Given the description of an element on the screen output the (x, y) to click on. 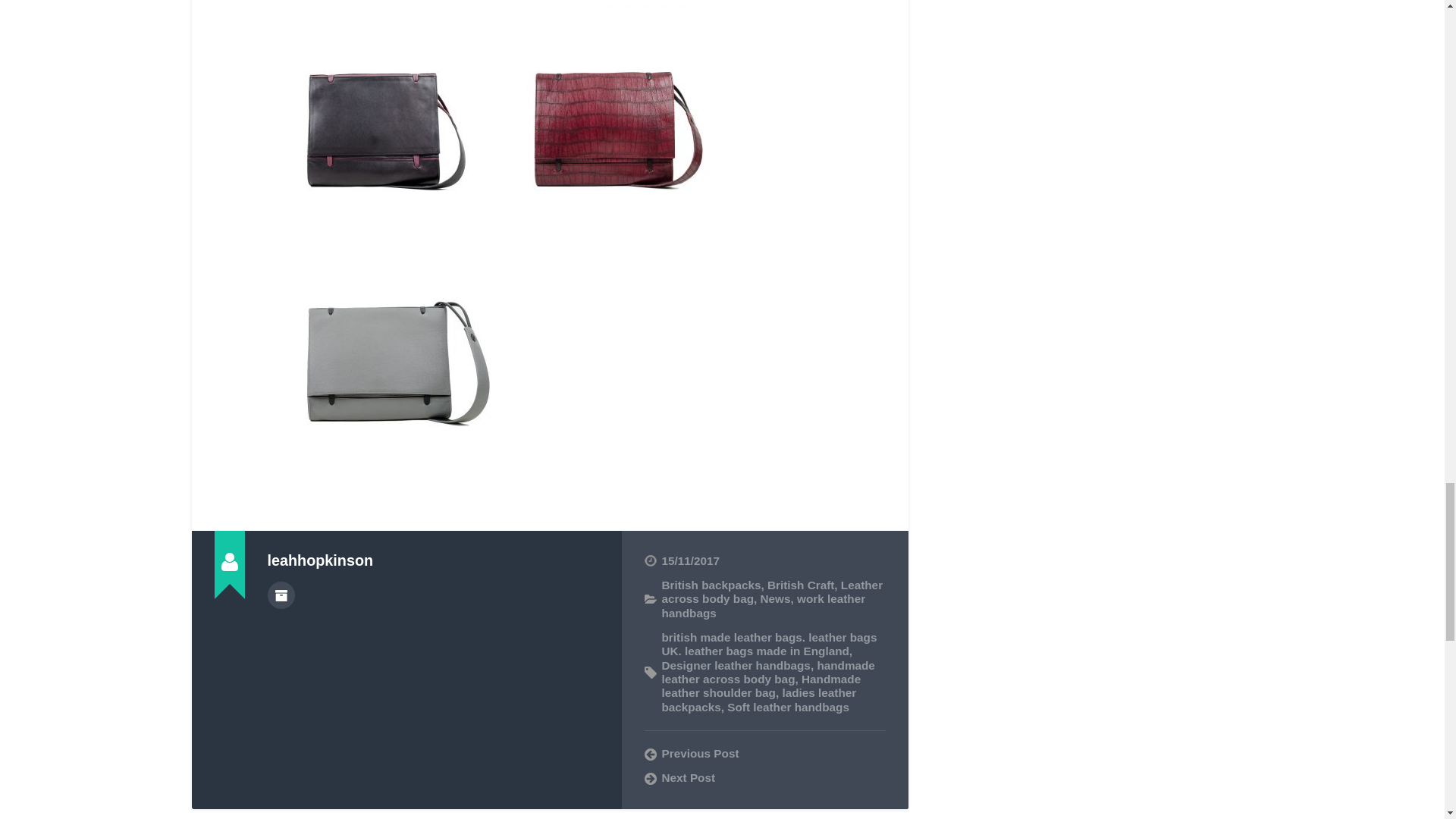
Author archive (280, 595)
British Craft (800, 584)
Author archive (280, 595)
Leather across body bag (771, 591)
British backpacks (710, 584)
News (775, 598)
work leather handbags (762, 605)
